Given the description of an element on the screen output the (x, y) to click on. 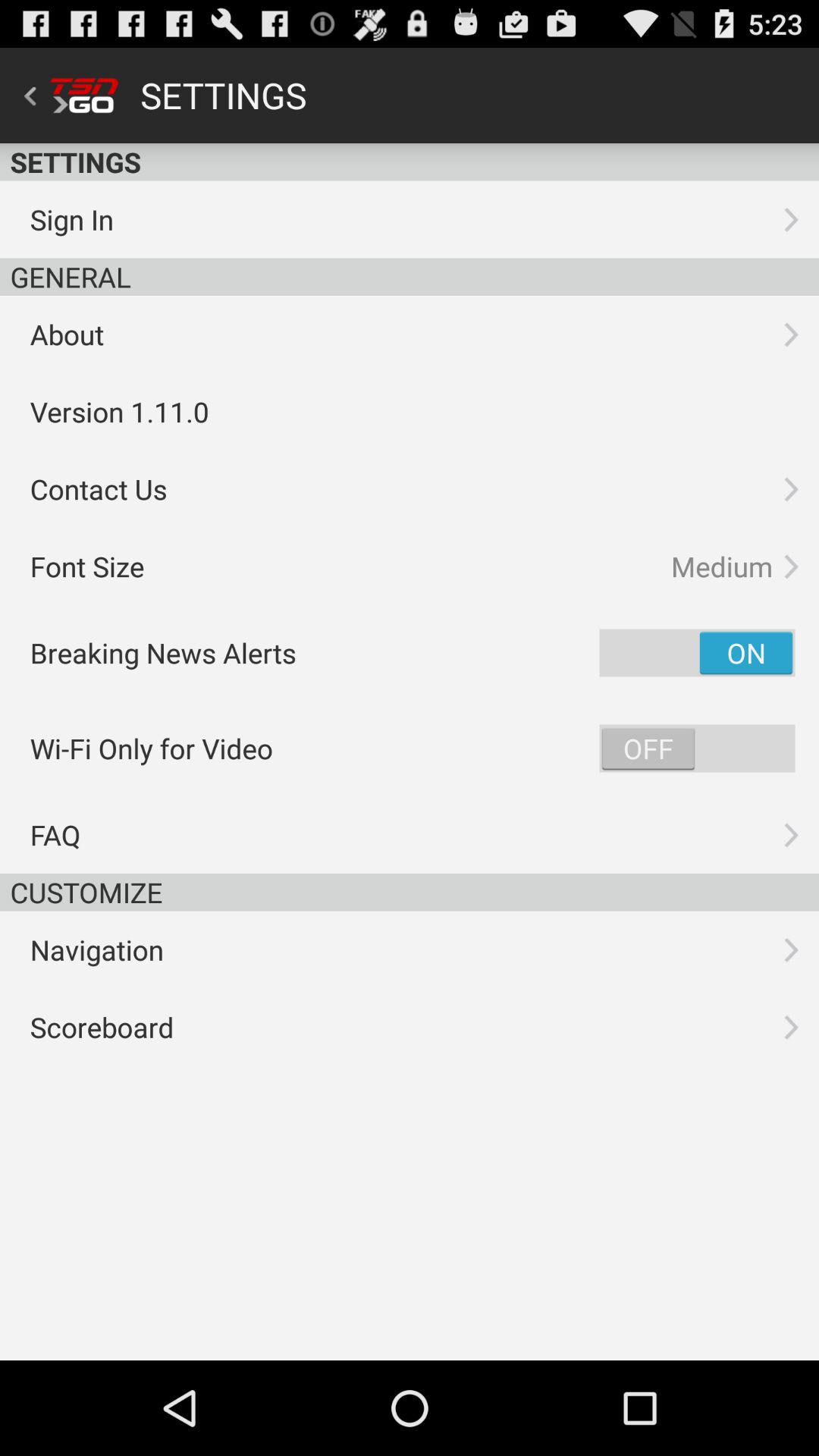
shows on/off option (697, 748)
